Given the description of an element on the screen output the (x, y) to click on. 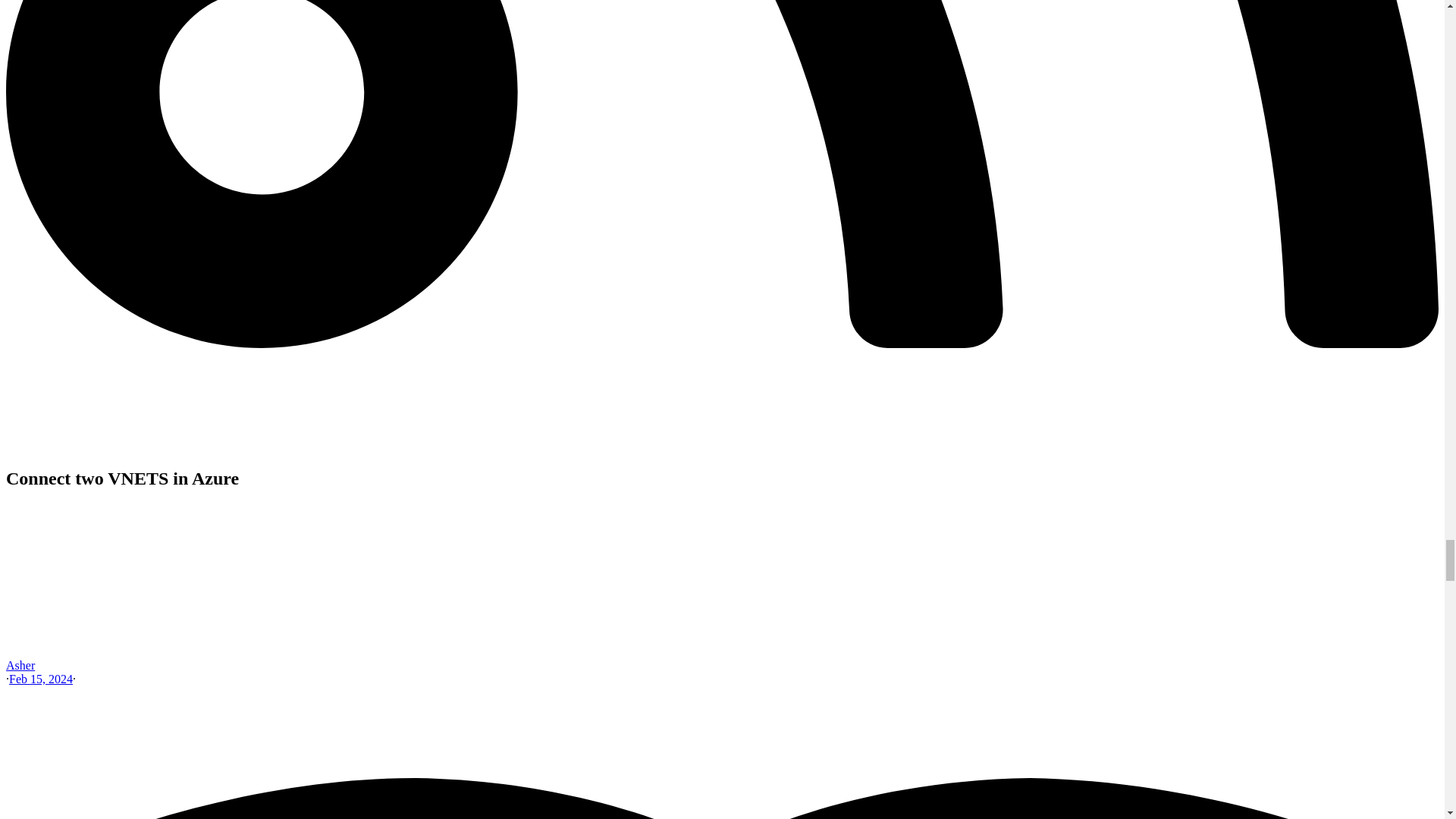
Feb 15, 2024 (40, 678)
Asher (19, 665)
